Given the description of an element on the screen output the (x, y) to click on. 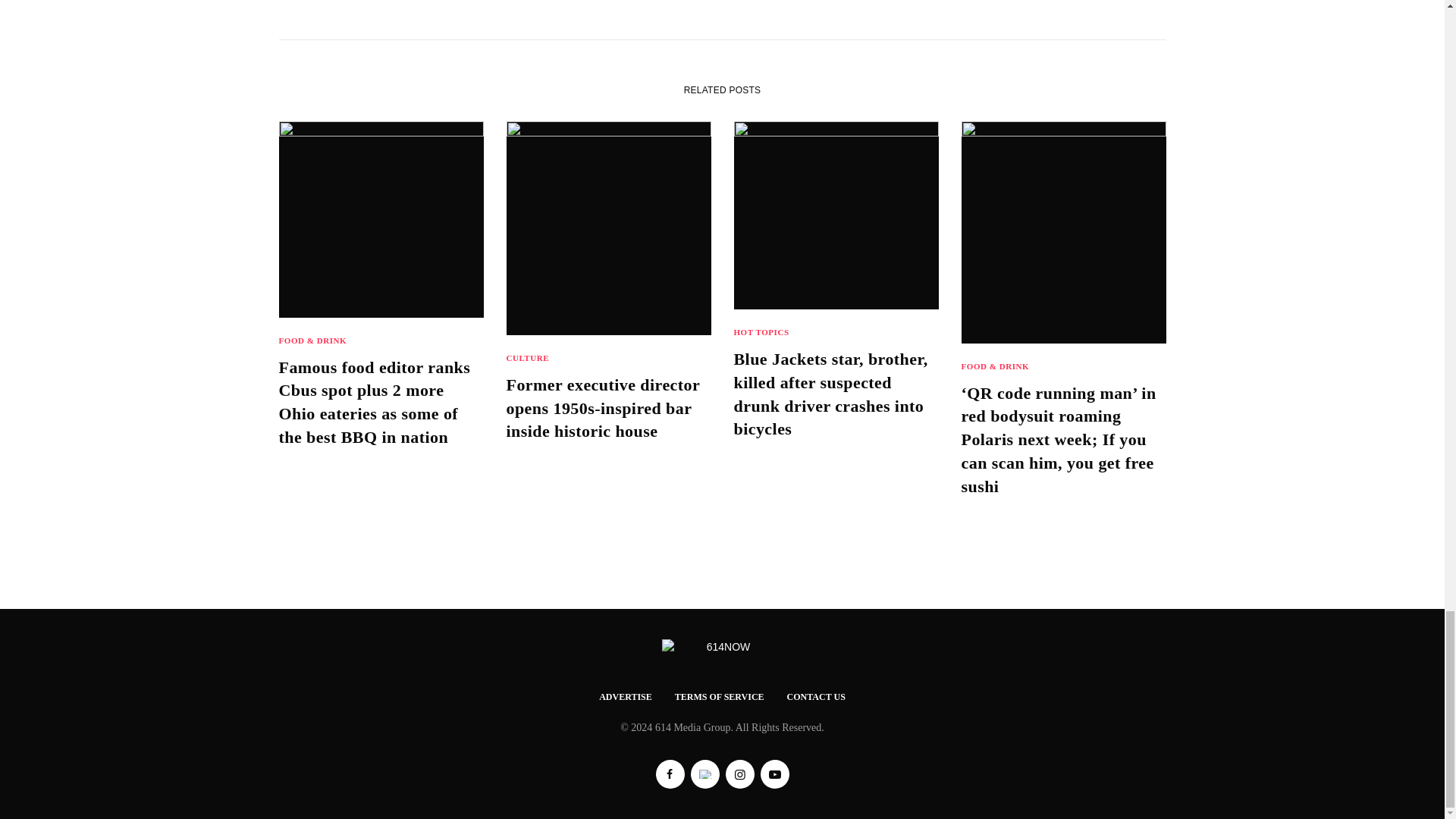
614NOW (722, 647)
